Given the description of an element on the screen output the (x, y) to click on. 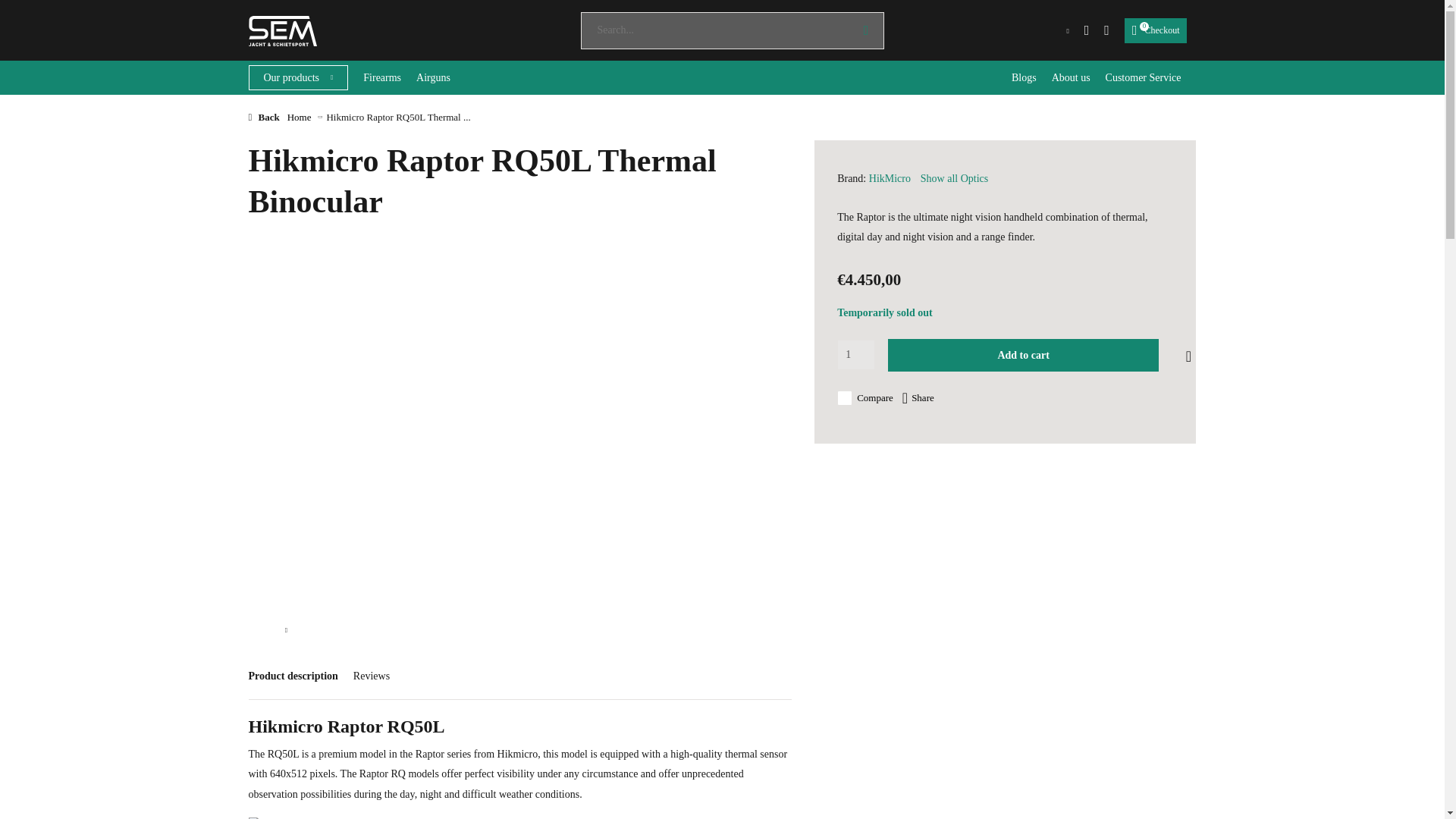
Blogs (1023, 77)
Search (866, 29)
About us (1070, 77)
Customer Service (1142, 77)
Airguns (1156, 30)
1 (432, 77)
Firearms (856, 354)
